Given the description of an element on the screen output the (x, y) to click on. 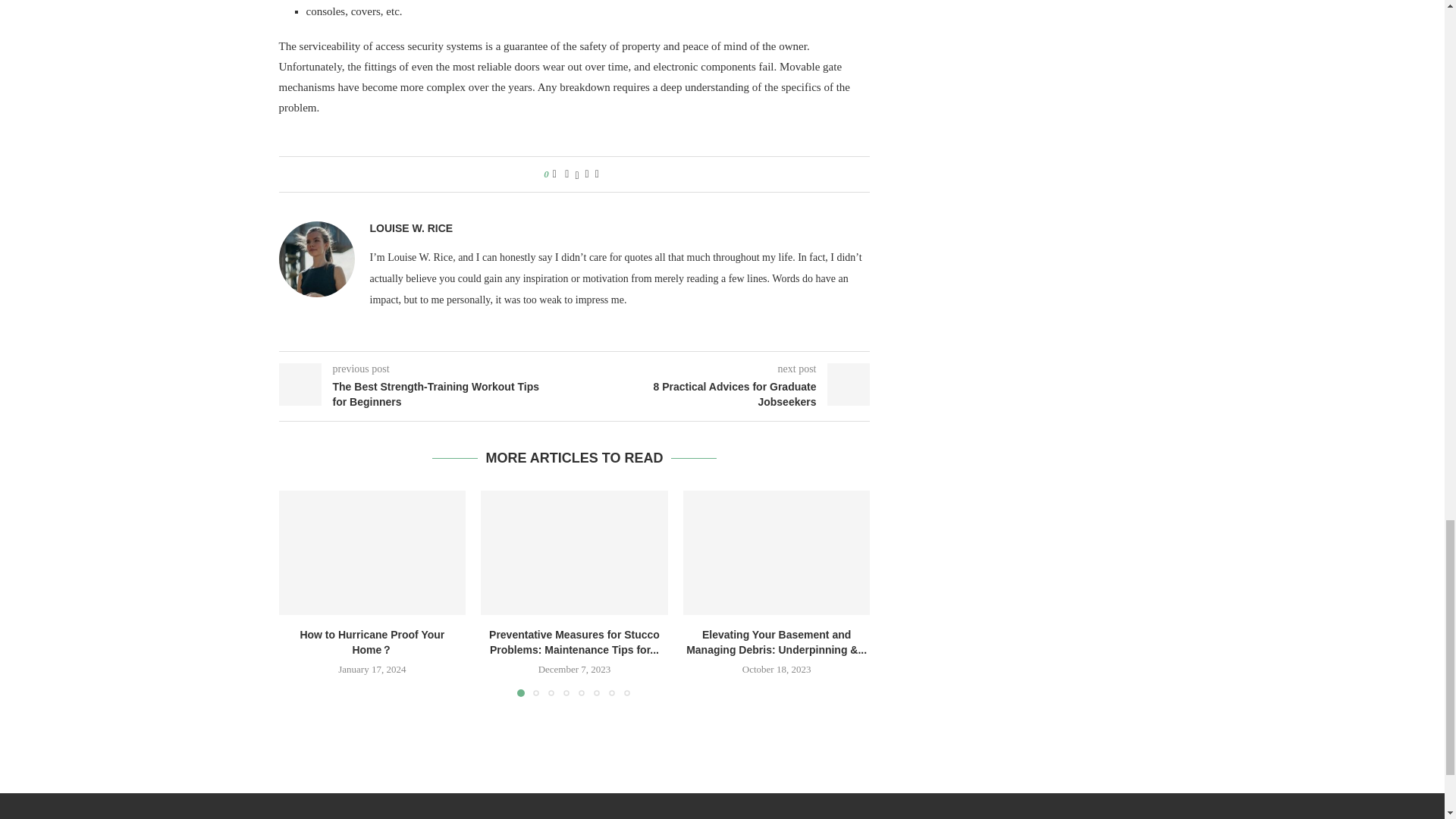
Author Louise W. Rice (410, 228)
